Given the description of an element on the screen output the (x, y) to click on. 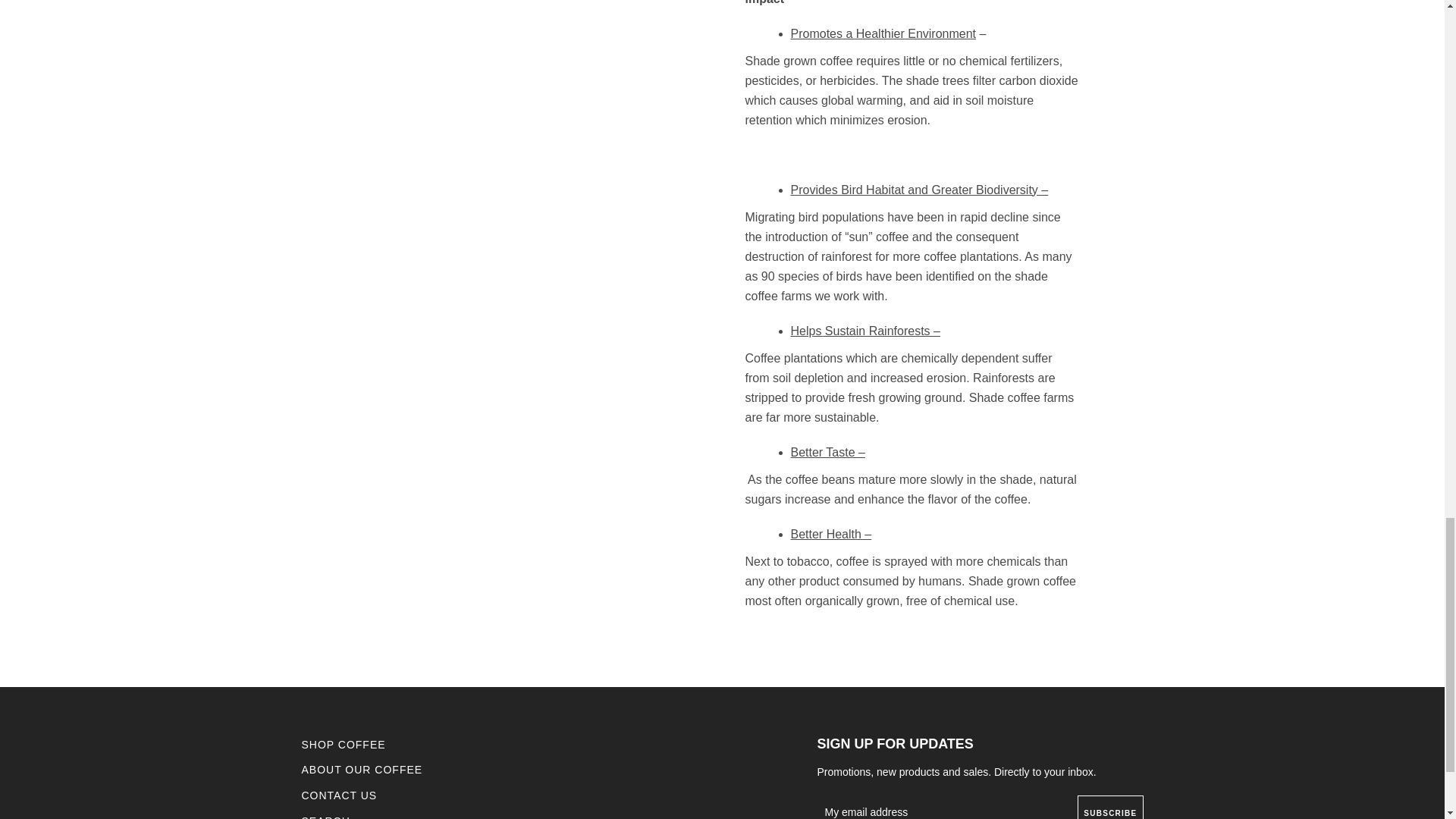
ABOUT OUR COFFEE (362, 769)
SEARCH (325, 816)
SHOP COFFEE (343, 744)
SUBSCRIBE (1109, 812)
CONTACT US (339, 795)
